Given the description of an element on the screen output the (x, y) to click on. 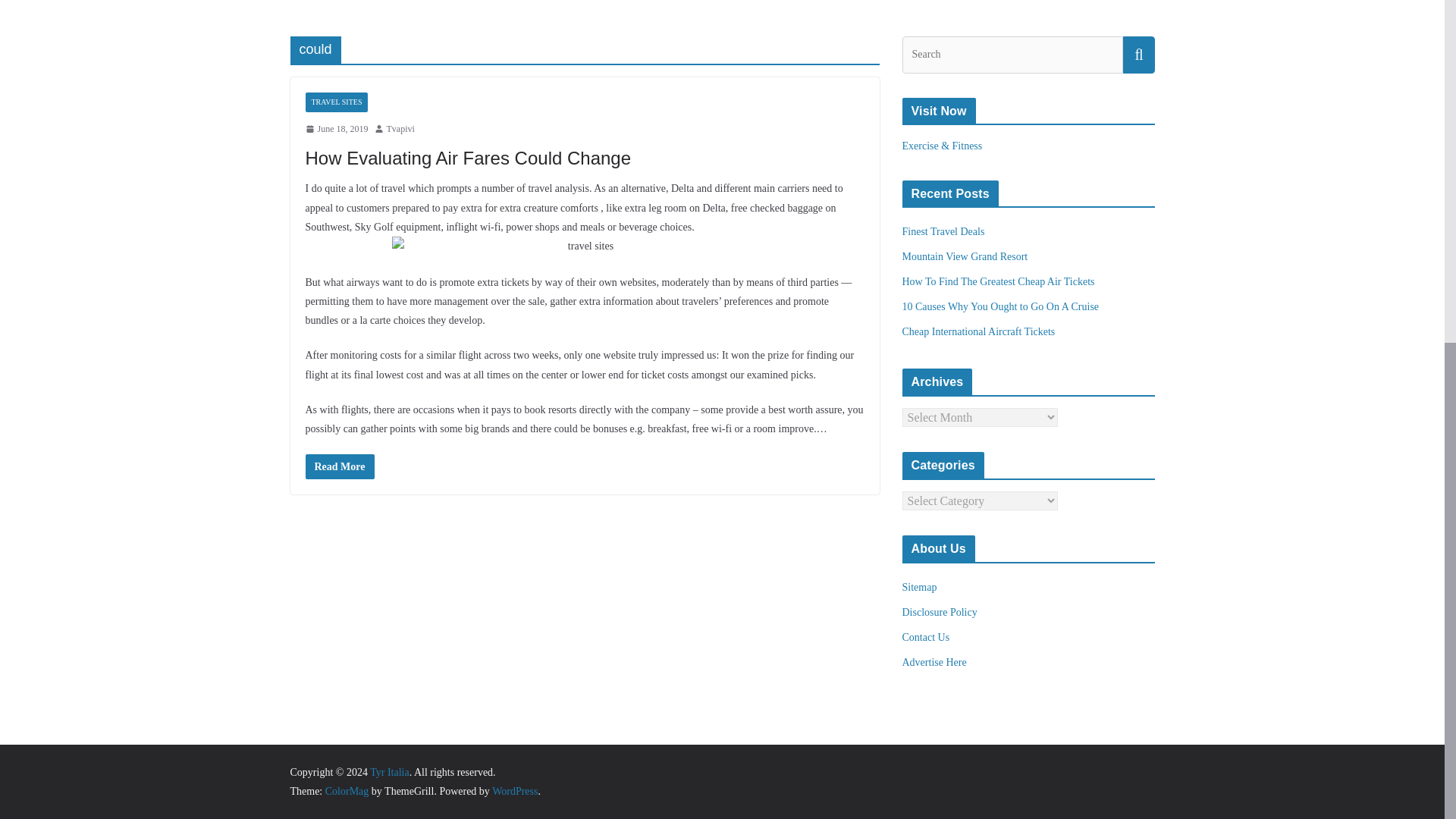
Tyr Italia (389, 772)
ColorMag (346, 790)
TRAVEL SITES (336, 102)
June 18, 2019 (336, 129)
Tvapivi (400, 129)
Tvapivi (400, 129)
How Evaluating Air Fares Could Change (339, 466)
WordPress (514, 790)
How Evaluating Air Fares Could Change (467, 158)
1:03 pm (336, 129)
